Given the description of an element on the screen output the (x, y) to click on. 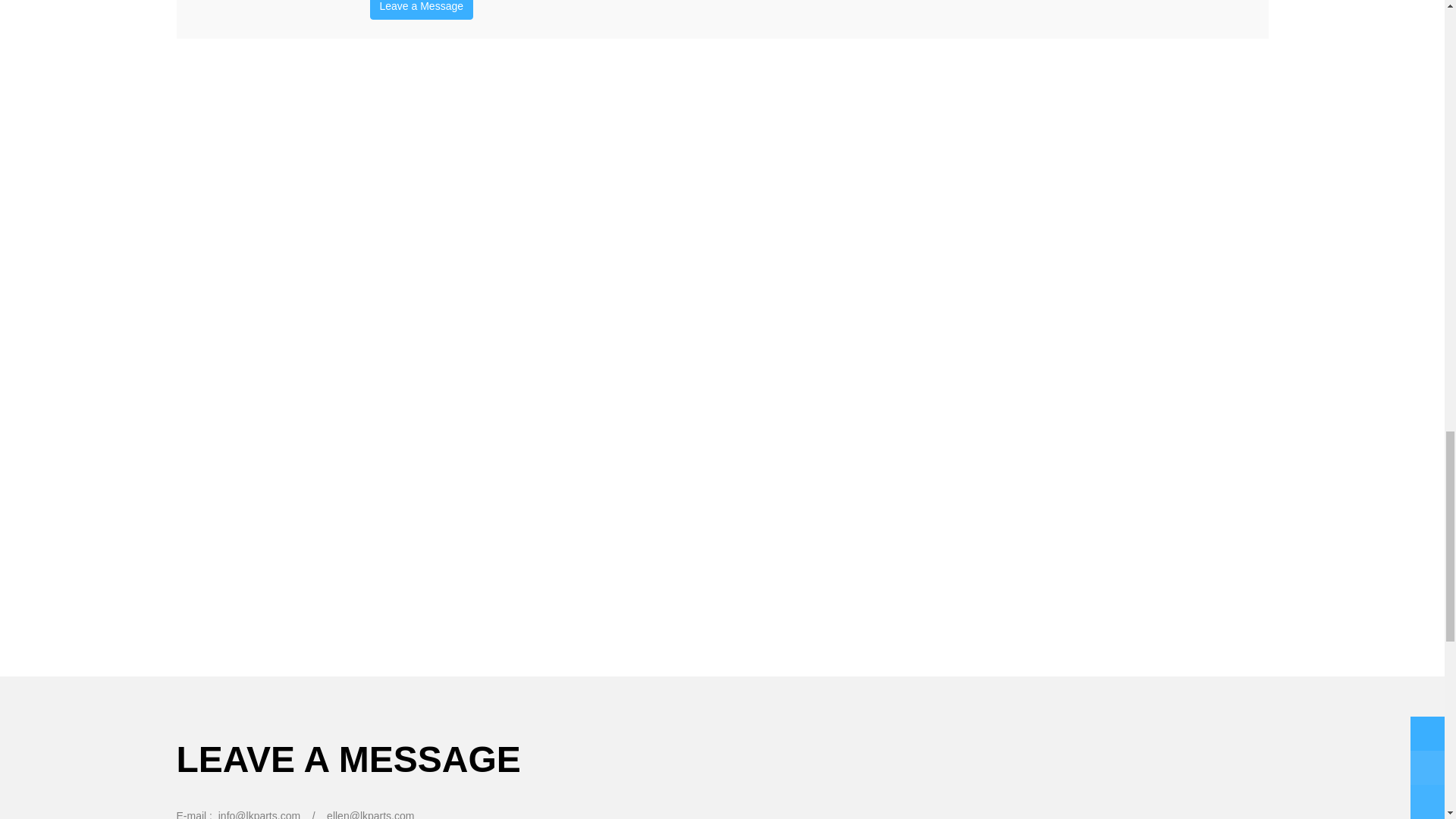
Leave a Message (421, 9)
